Given the description of an element on the screen output the (x, y) to click on. 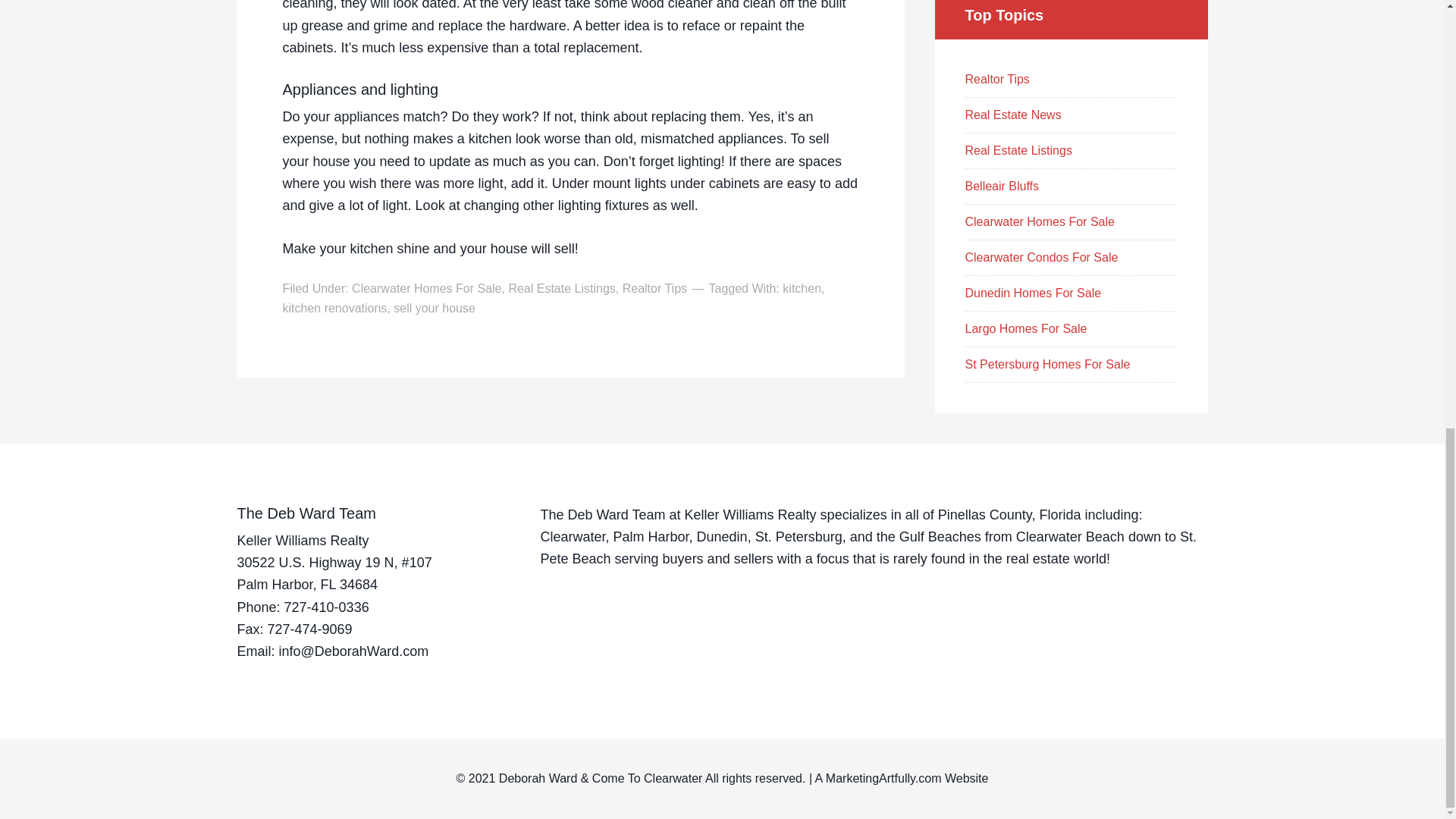
Belleair Bluffs (1001, 185)
kitchen (802, 287)
kitchen renovations (334, 308)
Realtor Tips (996, 78)
Realtor Tips (655, 287)
Real Estate News (1012, 114)
Real Estate Listings (561, 287)
Clearwater Homes For Sale (426, 287)
Real Estate Listings (1017, 150)
sell your house (434, 308)
Clearwater Homes For Sale (1038, 221)
